Given the description of an element on the screen output the (x, y) to click on. 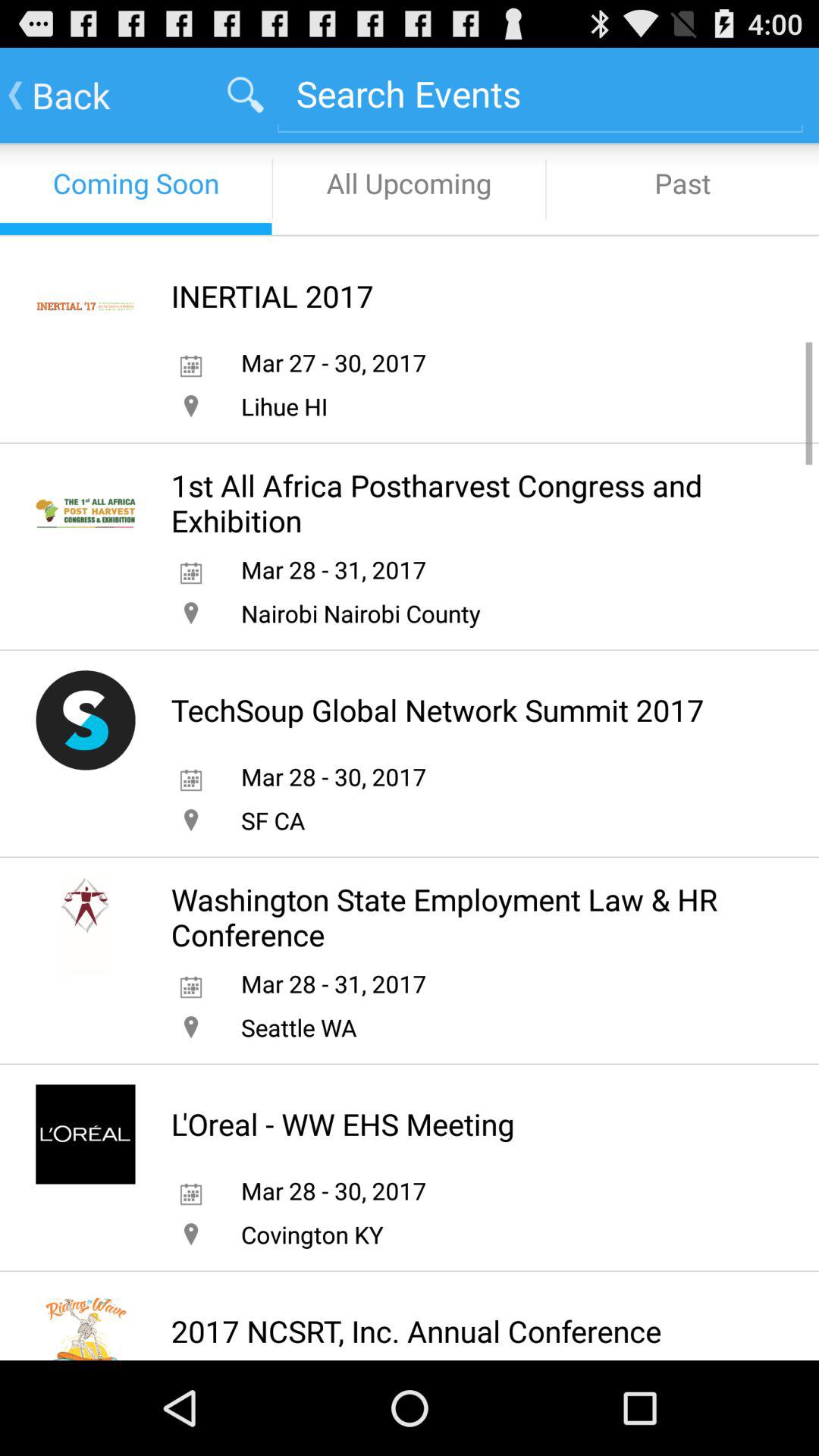
choose app above l oreal ww item (298, 1027)
